Given the description of an element on the screen output the (x, y) to click on. 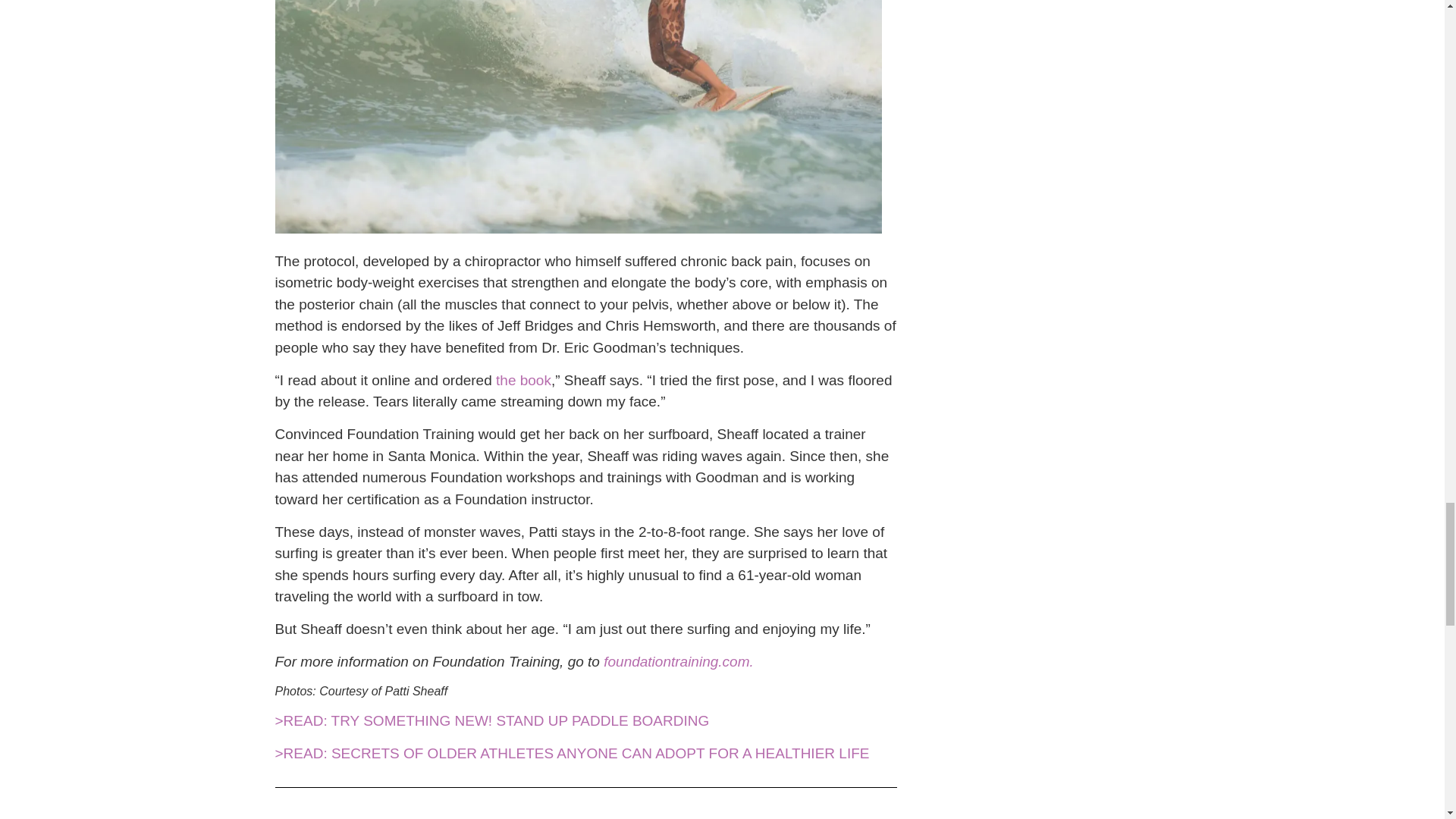
foundationtraining.com. (679, 661)
the book (523, 380)
